Given the description of an element on the screen output the (x, y) to click on. 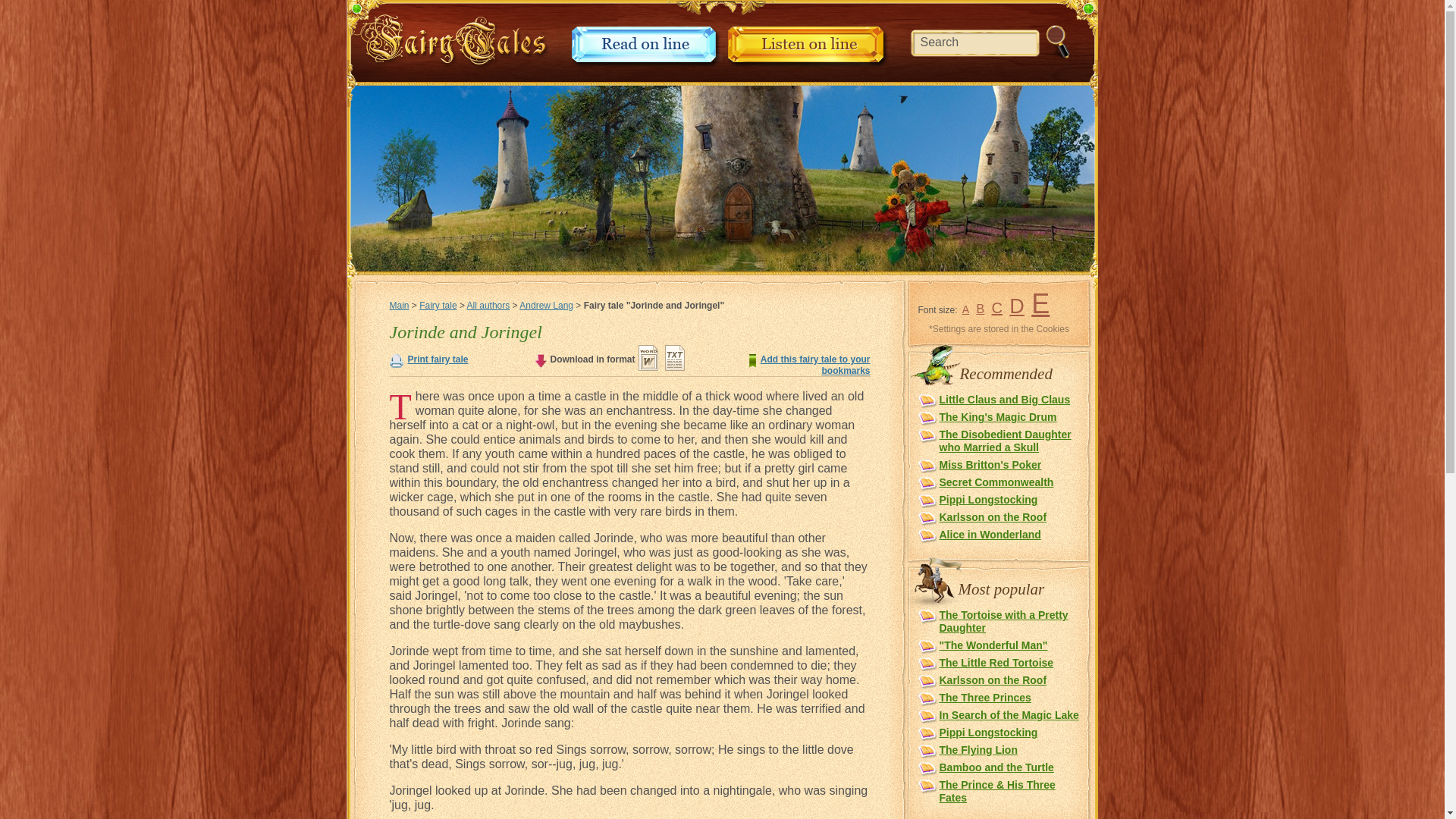
Print fairy tale (437, 358)
The Tortoise with a Pretty Daughter (1003, 621)
Pippi Longstocking (987, 499)
The King's Magic Drum (998, 417)
Secret Commonwealth (995, 481)
The Disobedient Daughter who Married a Skull (1004, 440)
Andrew Lang (546, 305)
In Search of the Magic Lake (1008, 715)
Read on line (646, 63)
Miss Britton's Poker (990, 464)
The Flying Lion (977, 749)
All authors (489, 305)
"The Wonderful Man" (992, 645)
The Three Princes (984, 697)
Bamboo and the Turtle (995, 767)
